Given the description of an element on the screen output the (x, y) to click on. 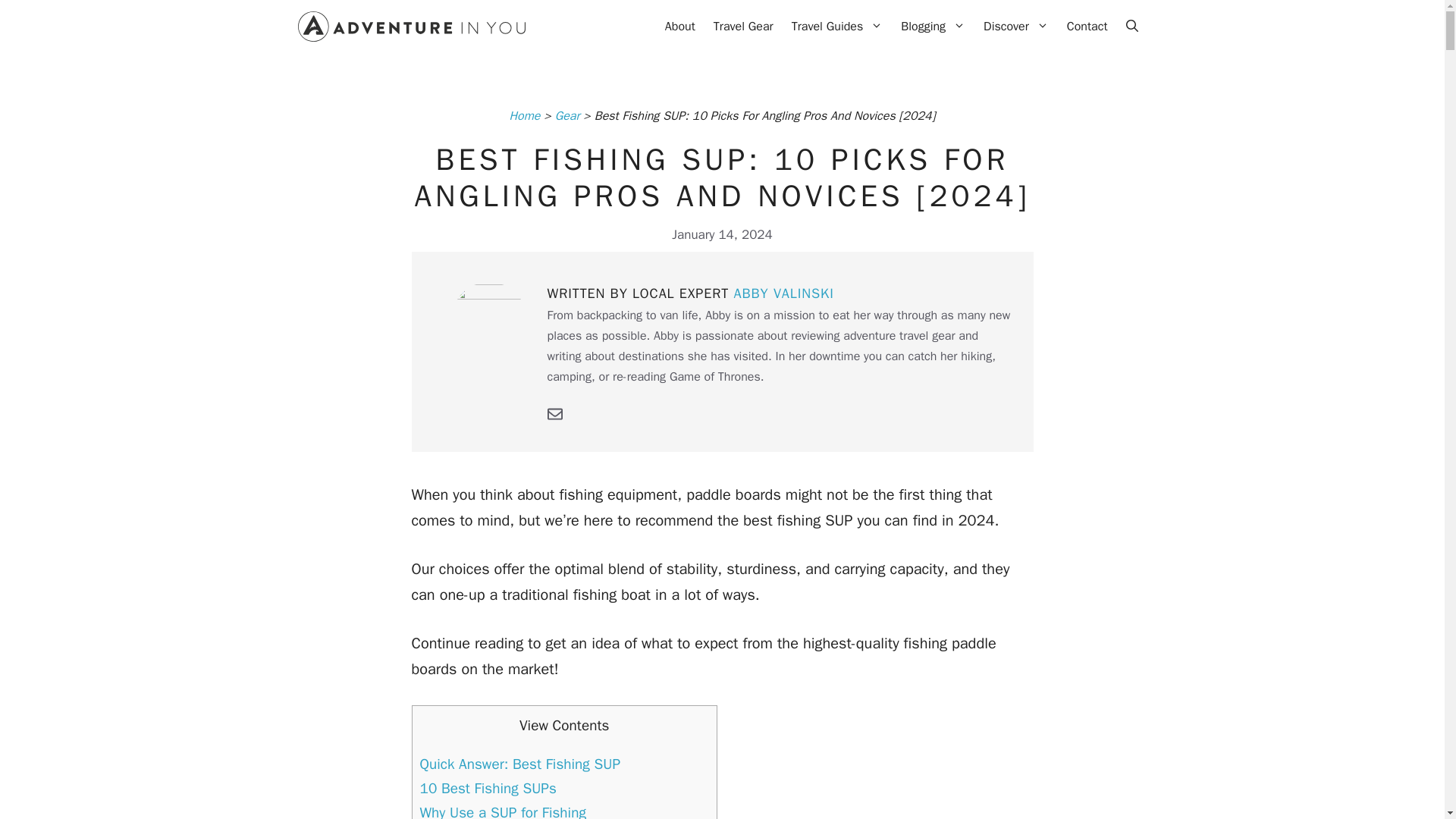
About Adventure In You (680, 26)
About (680, 26)
Best Travel Gear (743, 26)
Travel Guides (837, 26)
Travel Gear (743, 26)
